Given the description of an element on the screen output the (x, y) to click on. 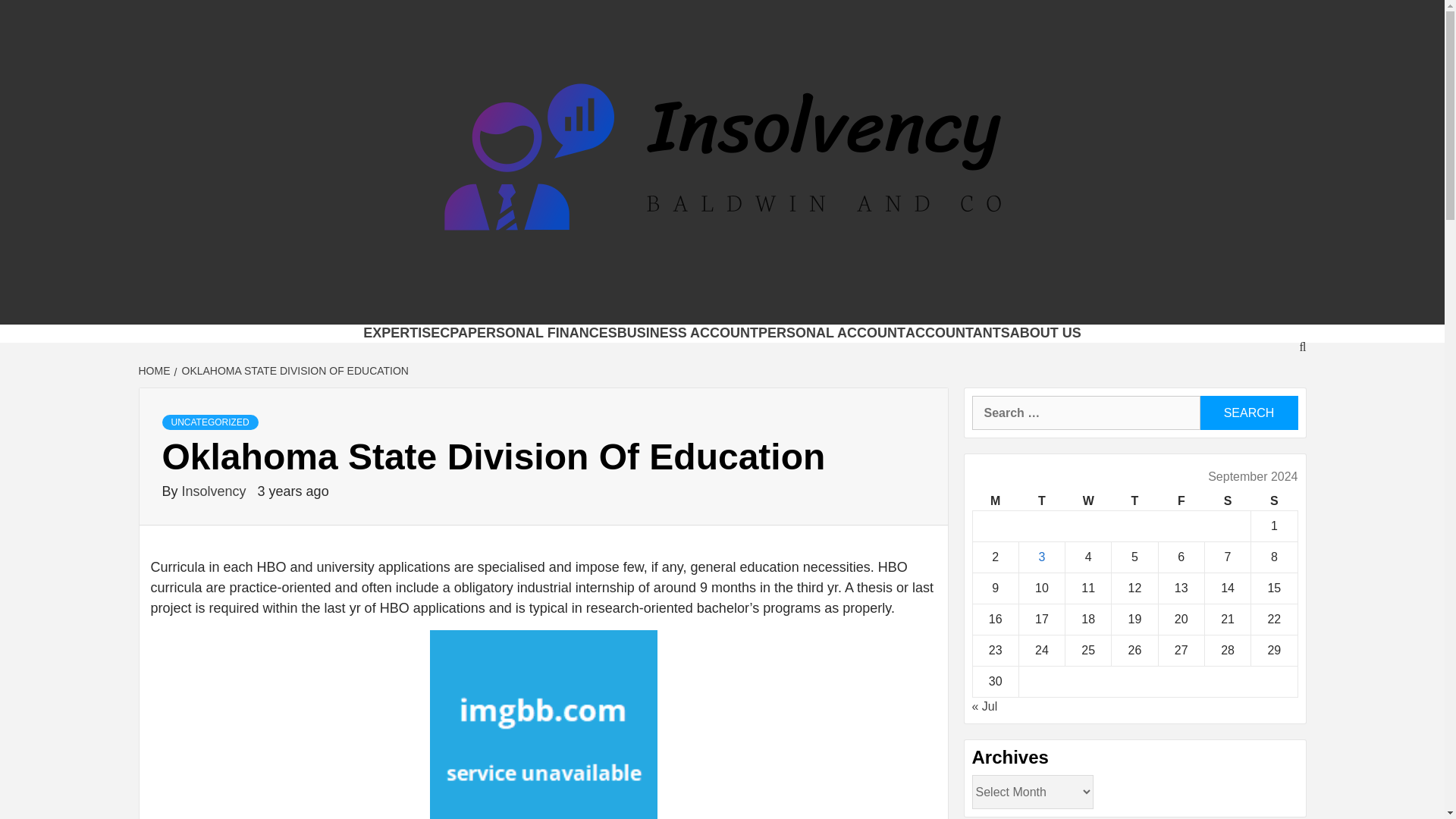
ACCOUNTANTS (957, 332)
UNCATEGORIZED (210, 421)
Thursday (1134, 501)
CPA (453, 332)
Search (1248, 412)
BUSINESS ACCOUNT (687, 332)
EXPERTISE (400, 332)
PERSONAL FINANCES (542, 332)
Friday (1180, 501)
OKLAHOMA STATE DIVISION OF EDUCATION (293, 370)
